Given the description of an element on the screen output the (x, y) to click on. 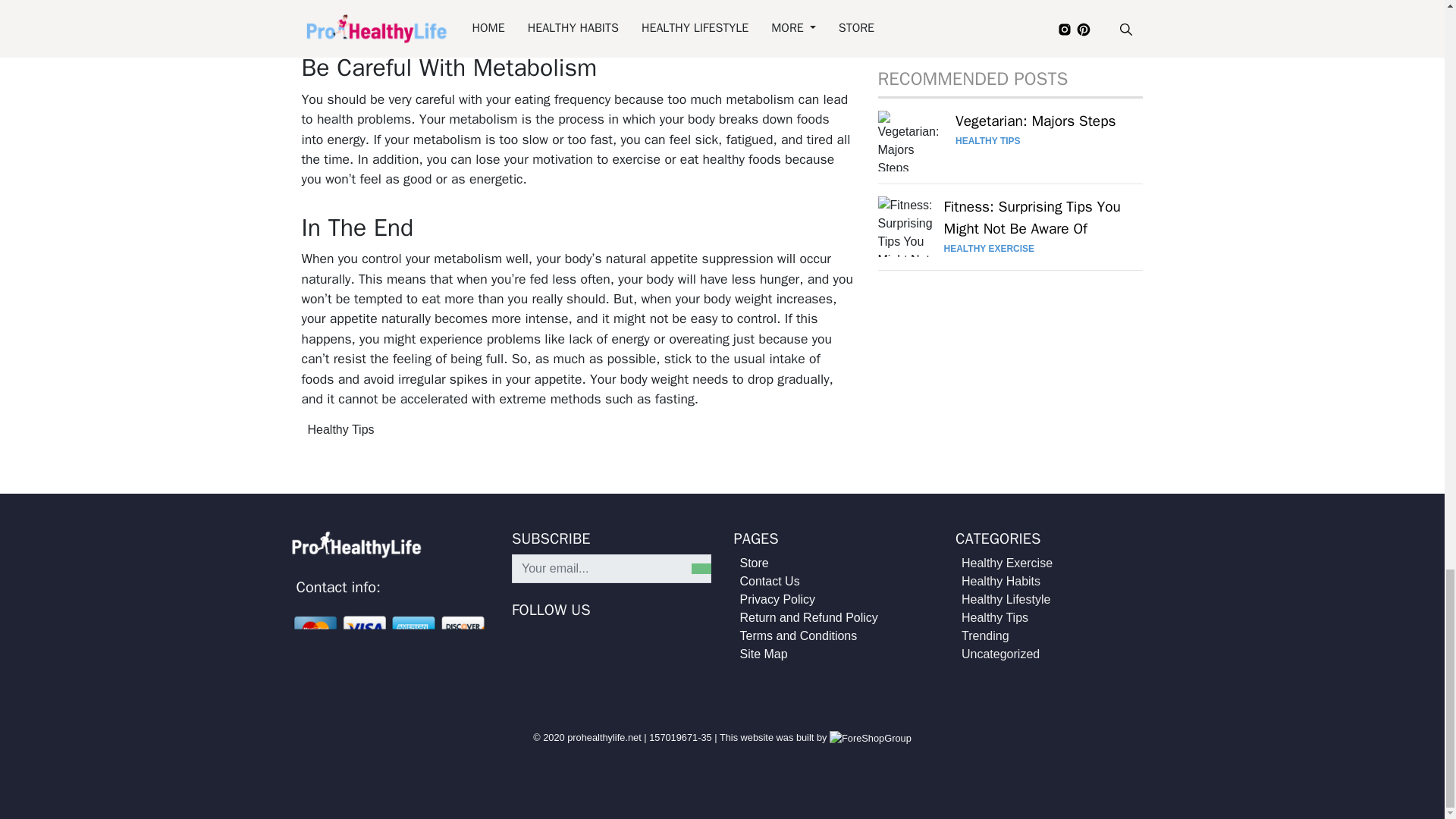
Healthy Tips (340, 429)
